Given the description of an element on the screen output the (x, y) to click on. 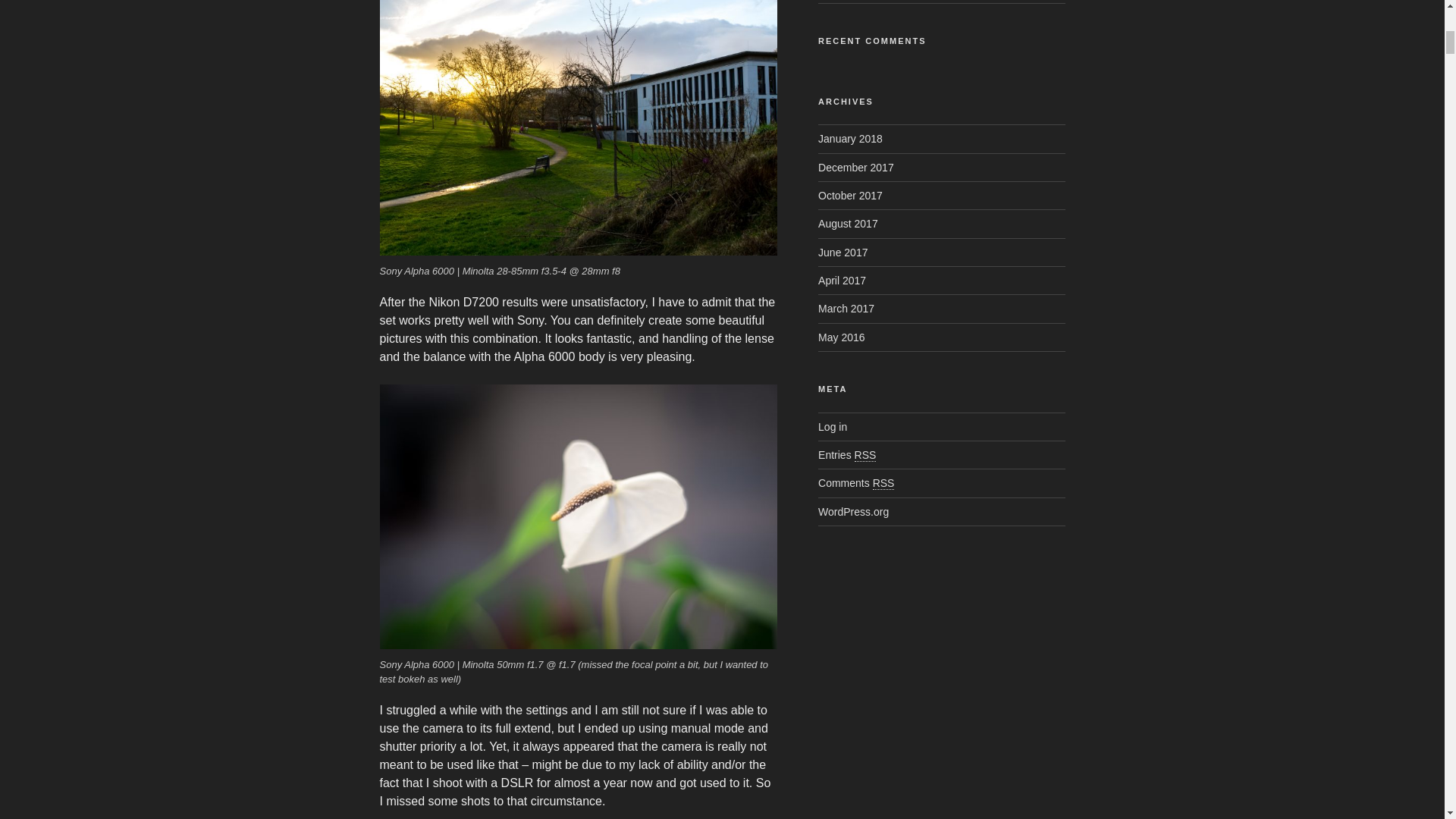
Really Simple Syndication (865, 454)
Really Simple Syndication (883, 482)
